Given the description of an element on the screen output the (x, y) to click on. 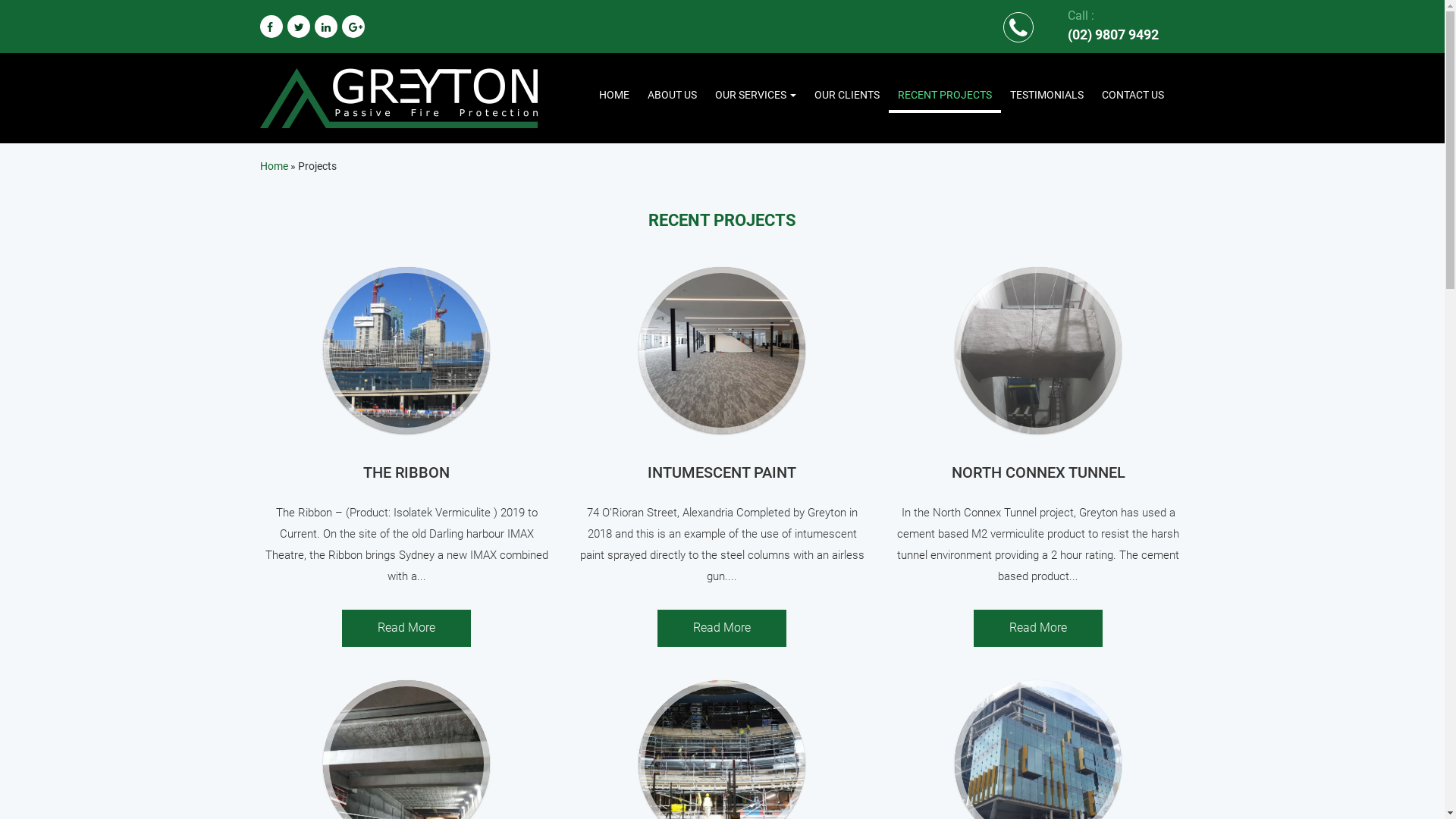
HOME Element type: text (613, 94)
ABOUT US Element type: text (672, 94)
Read More Element type: text (721, 627)
OUR CLIENTS Element type: text (846, 94)
CONTACT US Element type: text (1132, 94)
Read More Element type: text (406, 627)
RECENT PROJECTS Element type: text (944, 95)
INTUMESCENT PAINT Element type: text (721, 472)
NORTH CONNEX TUNNEL Element type: text (1038, 472)
TESTIMONIALS Element type: text (1046, 94)
Read More Element type: text (1037, 627)
OUR SERVICES Element type: text (755, 94)
Greyton Passive Fire Protection Element type: hover (397, 97)
THE RIBBON Element type: text (406, 472)
Home Element type: text (273, 166)
